Given the description of an element on the screen output the (x, y) to click on. 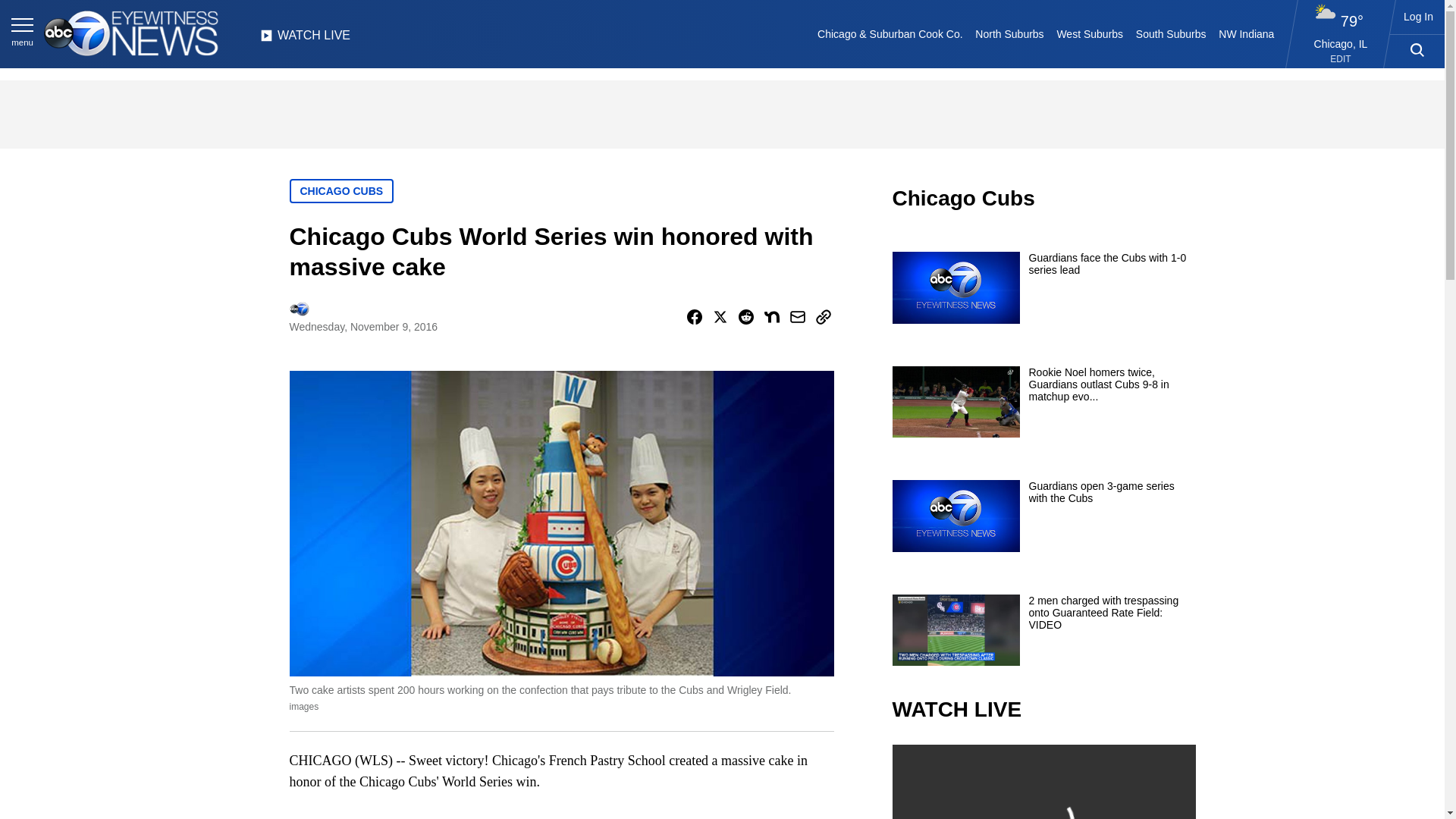
North Suburbs (1009, 33)
video.title (1043, 781)
South Suburbs (1170, 33)
EDIT (1340, 59)
West Suburbs (1089, 33)
Chicago, IL (1340, 43)
WATCH LIVE (305, 39)
NW Indiana (1246, 33)
